Given the description of an element on the screen output the (x, y) to click on. 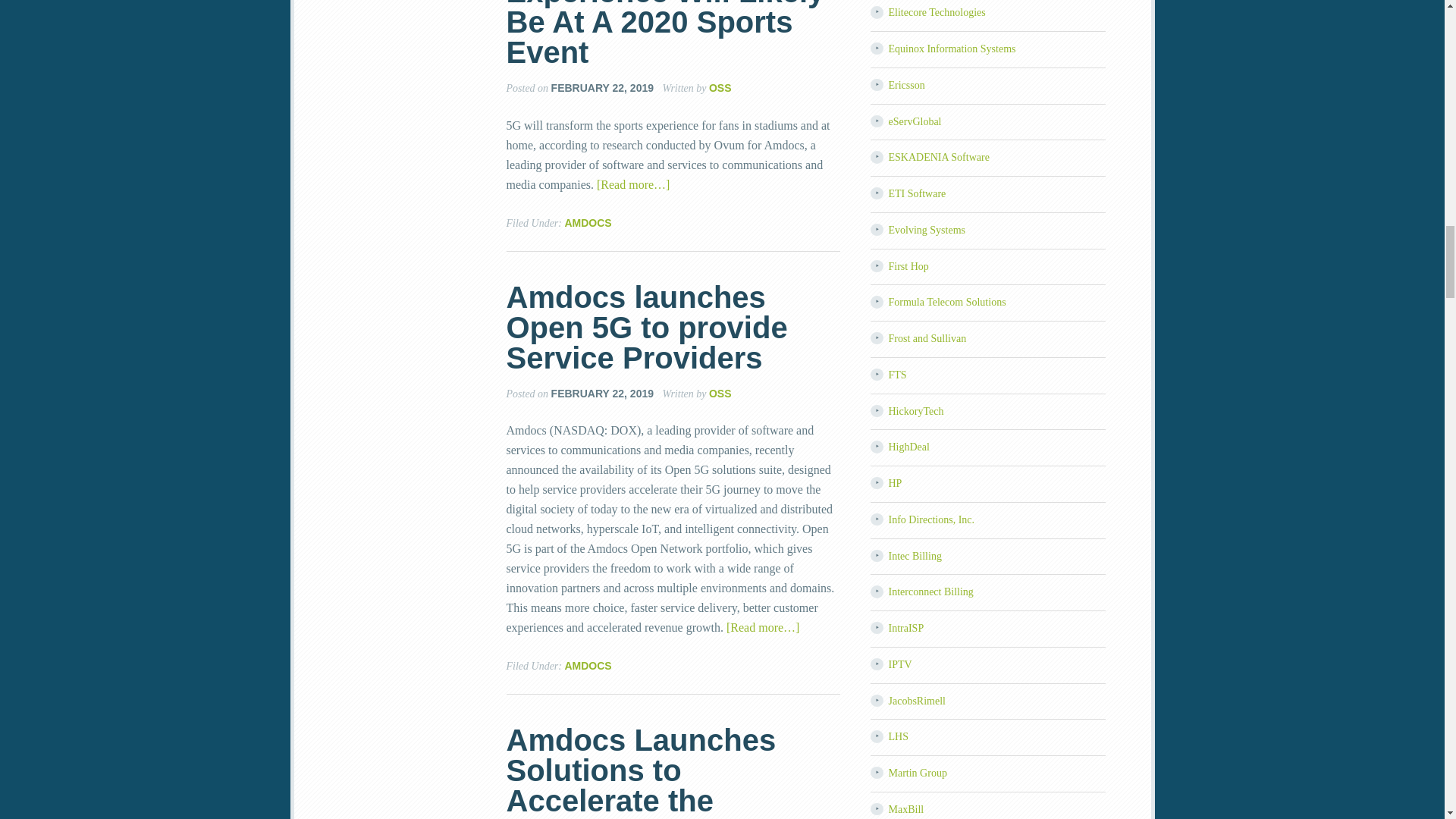
AMDOCS (587, 223)
OSS (720, 392)
AMDOCS (587, 665)
Amdocs launches Open 5G to provide Service Providers (646, 327)
OSS (720, 87)
